Given the description of an element on the screen output the (x, y) to click on. 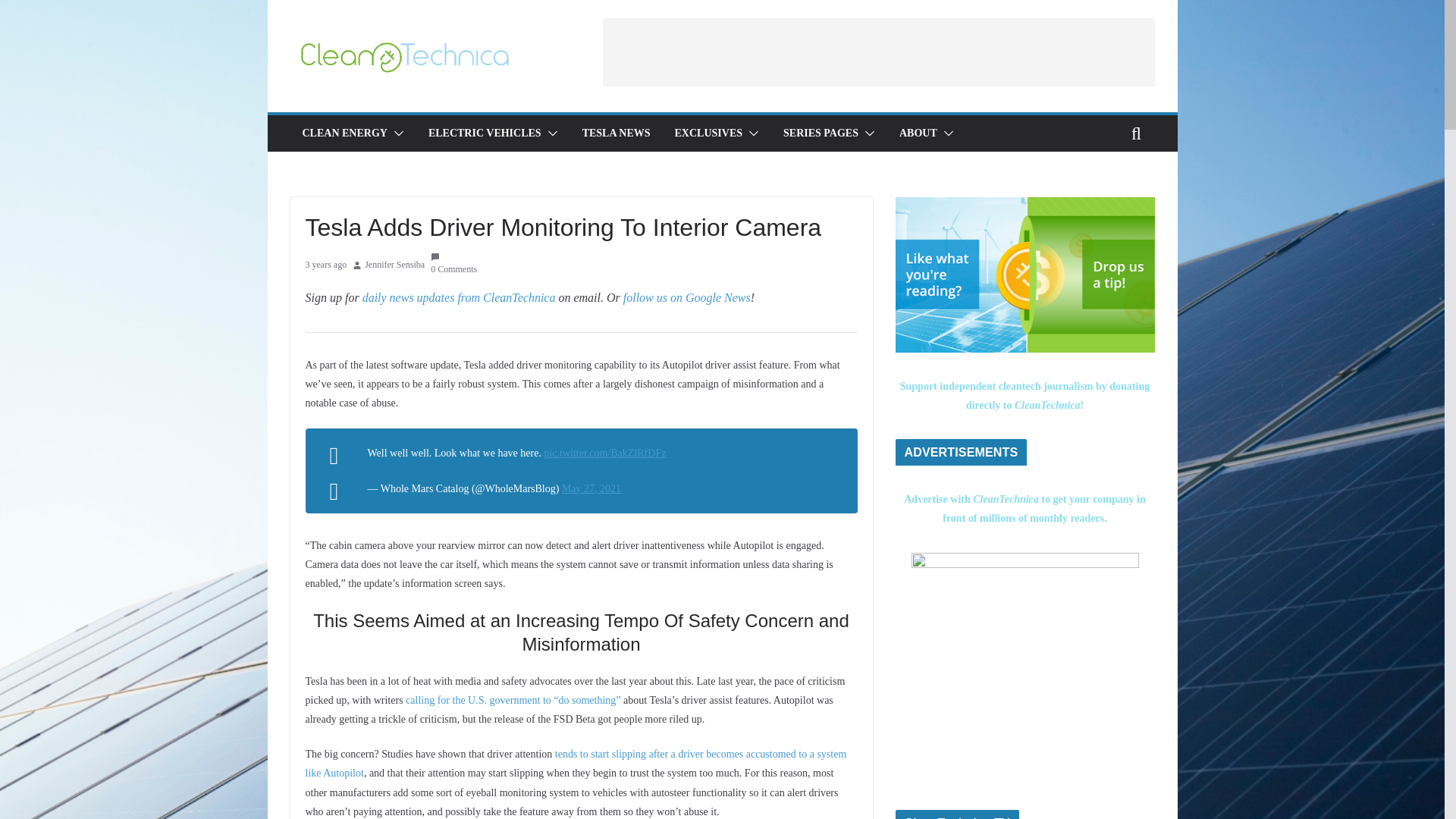
EXCLUSIVES (708, 133)
CLEAN ENERGY (344, 133)
Jennifer Sensiba (395, 265)
ELECTRIC VEHICLES (484, 133)
TESLA NEWS (616, 133)
SERIES PAGES (821, 133)
